Given the description of an element on the screen output the (x, y) to click on. 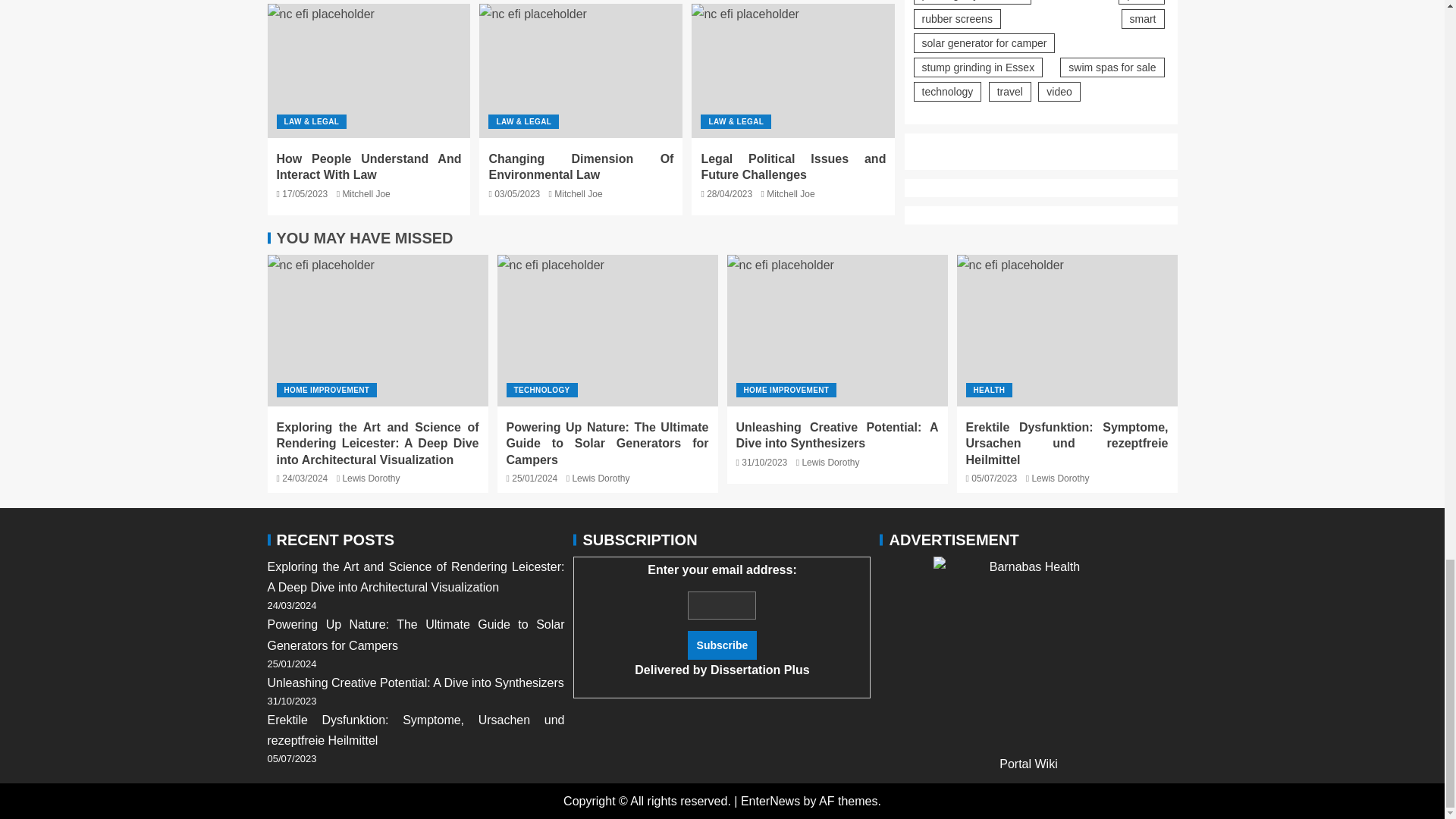
Changing Dimension Of Environmental Law (579, 166)
Legal Political Issues and Future Challenges (793, 71)
How People Understand And Interact With Law (368, 71)
Subscribe (722, 645)
Changing Dimension Of Environmental Law (580, 71)
How People Understand And Interact With Law (368, 166)
Mitchell Joe (366, 194)
